Given the description of an element on the screen output the (x, y) to click on. 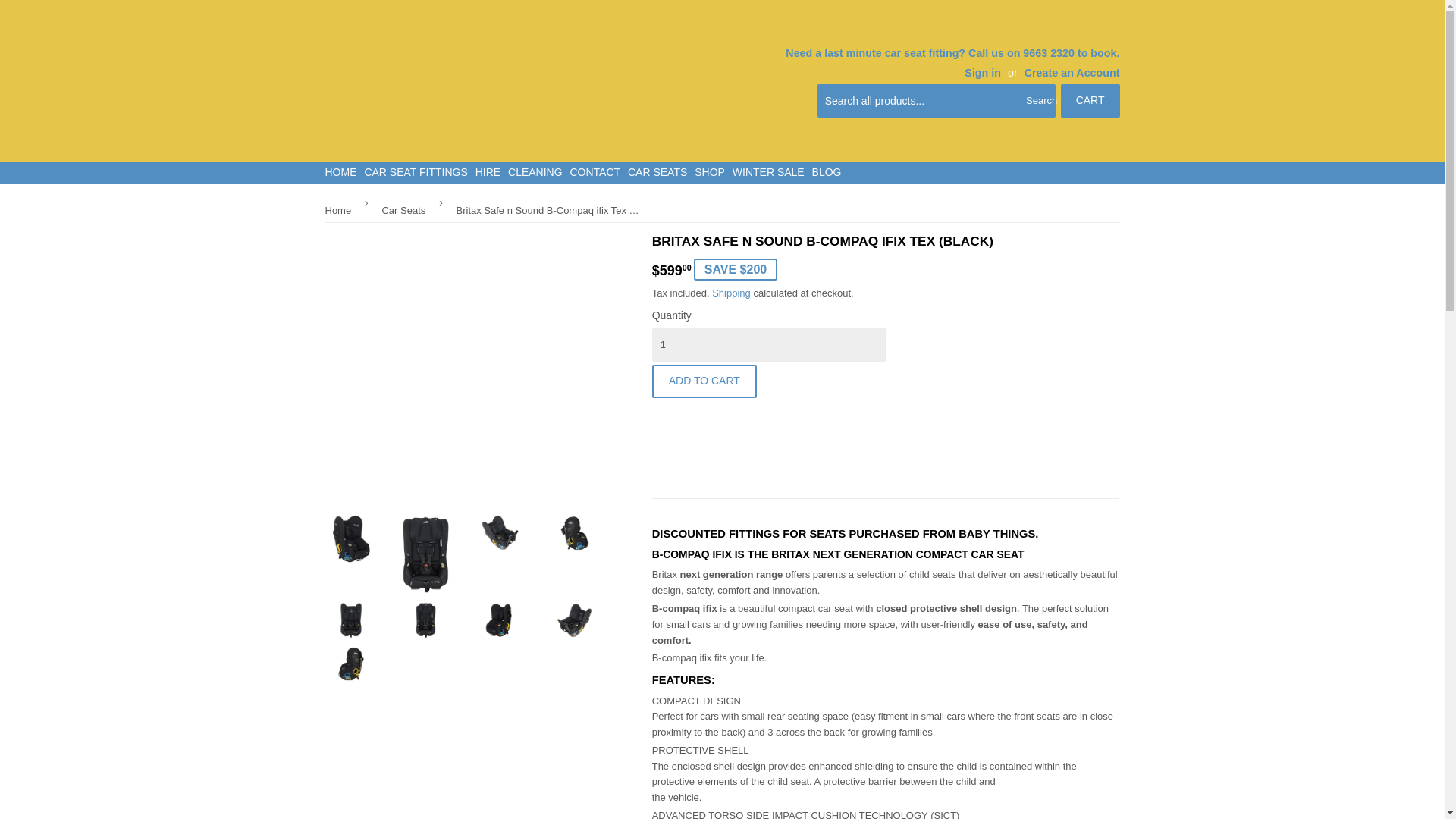
Back to the frontpage (340, 210)
1 (768, 344)
CART (1090, 100)
Sign in (982, 72)
Search (1038, 101)
Create an Account (1072, 72)
